Given the description of an element on the screen output the (x, y) to click on. 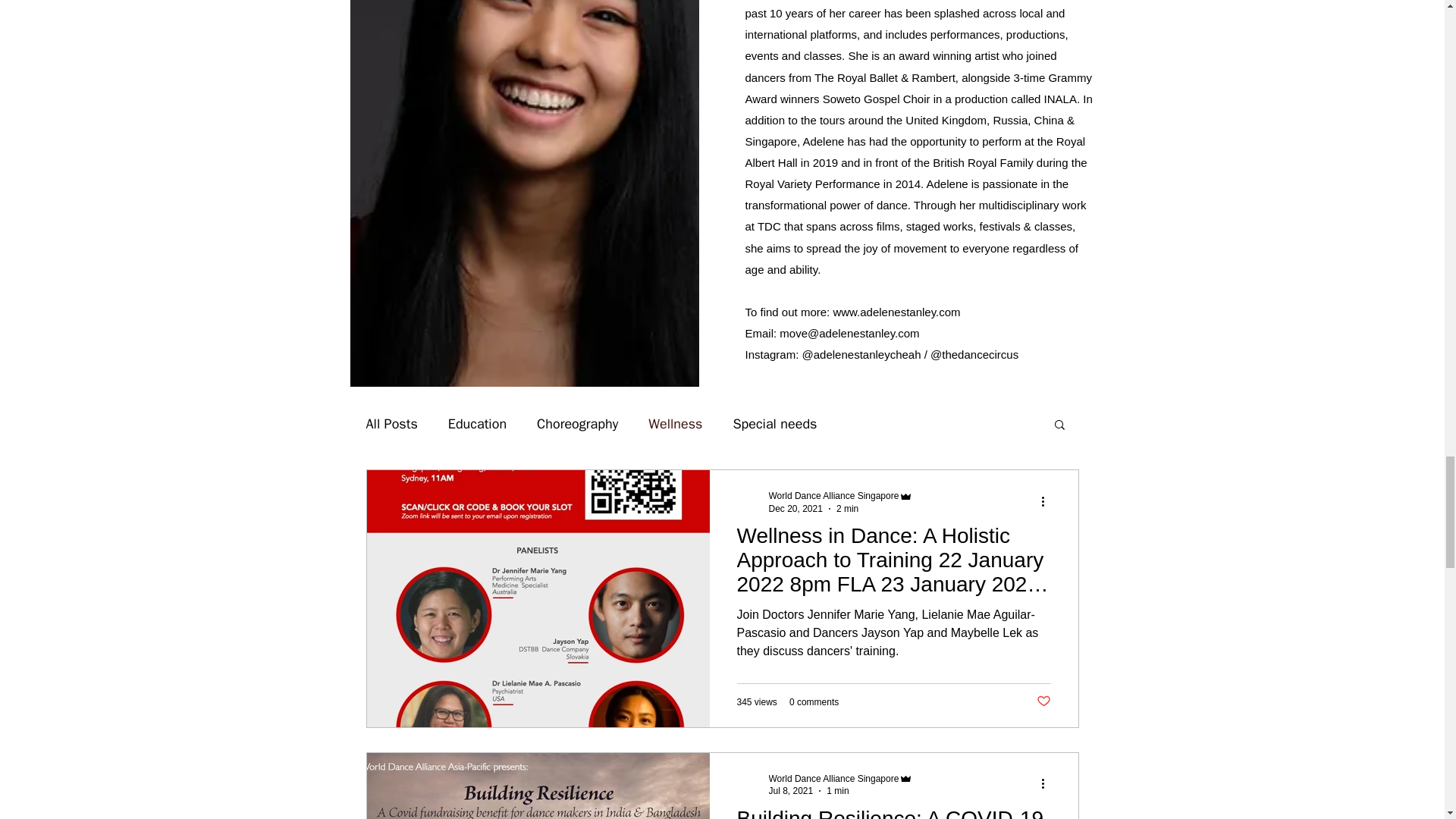
World Dance Alliance Singapore (833, 778)
Wellness (674, 423)
World Dance Alliance Singapore (833, 495)
World Dance Alliance Singapore (841, 495)
World Dance Alliance Singapore (841, 778)
Post not marked as liked (1042, 701)
Dec 20, 2021 (795, 508)
Jul 8, 2021 (790, 790)
www.adelenestanley.com (895, 311)
Education (477, 423)
Choreography (577, 423)
0 comments (813, 701)
All Posts (390, 423)
Special needs (774, 423)
1 min (837, 790)
